Given the description of an element on the screen output the (x, y) to click on. 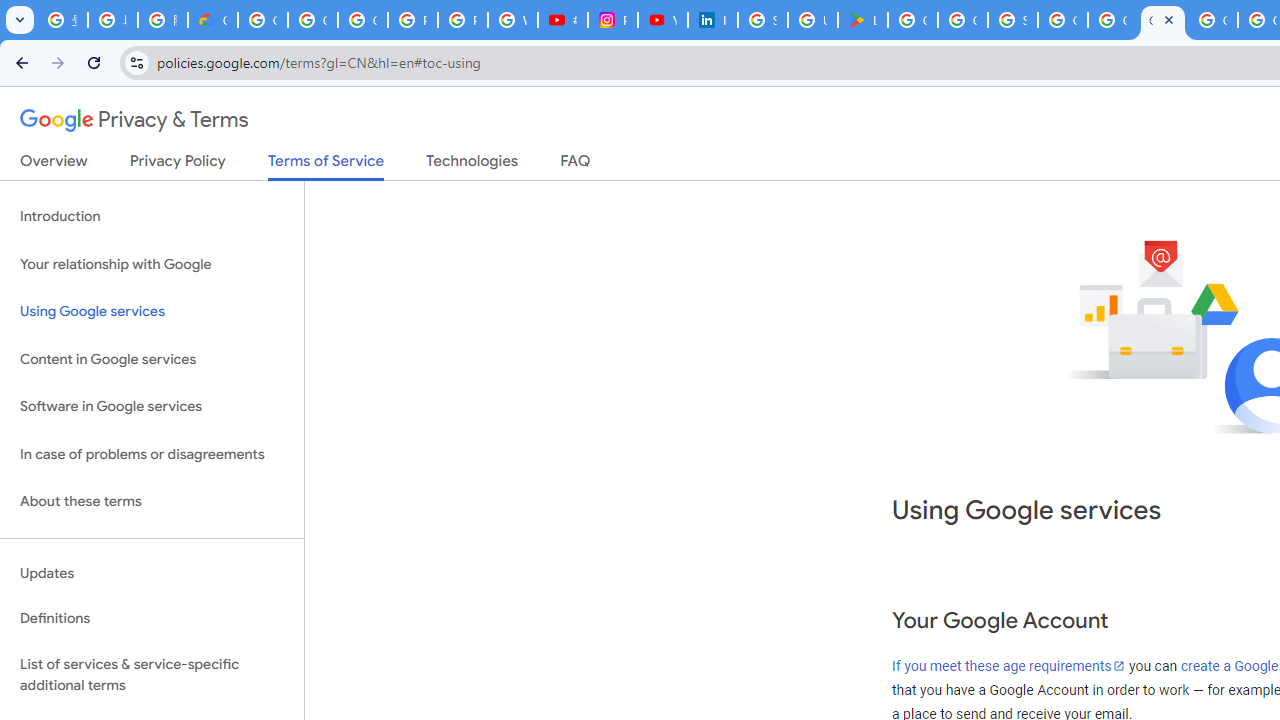
Using Google services (152, 312)
Sign in - Google Accounts (1013, 20)
